Given the description of an element on the screen output the (x, y) to click on. 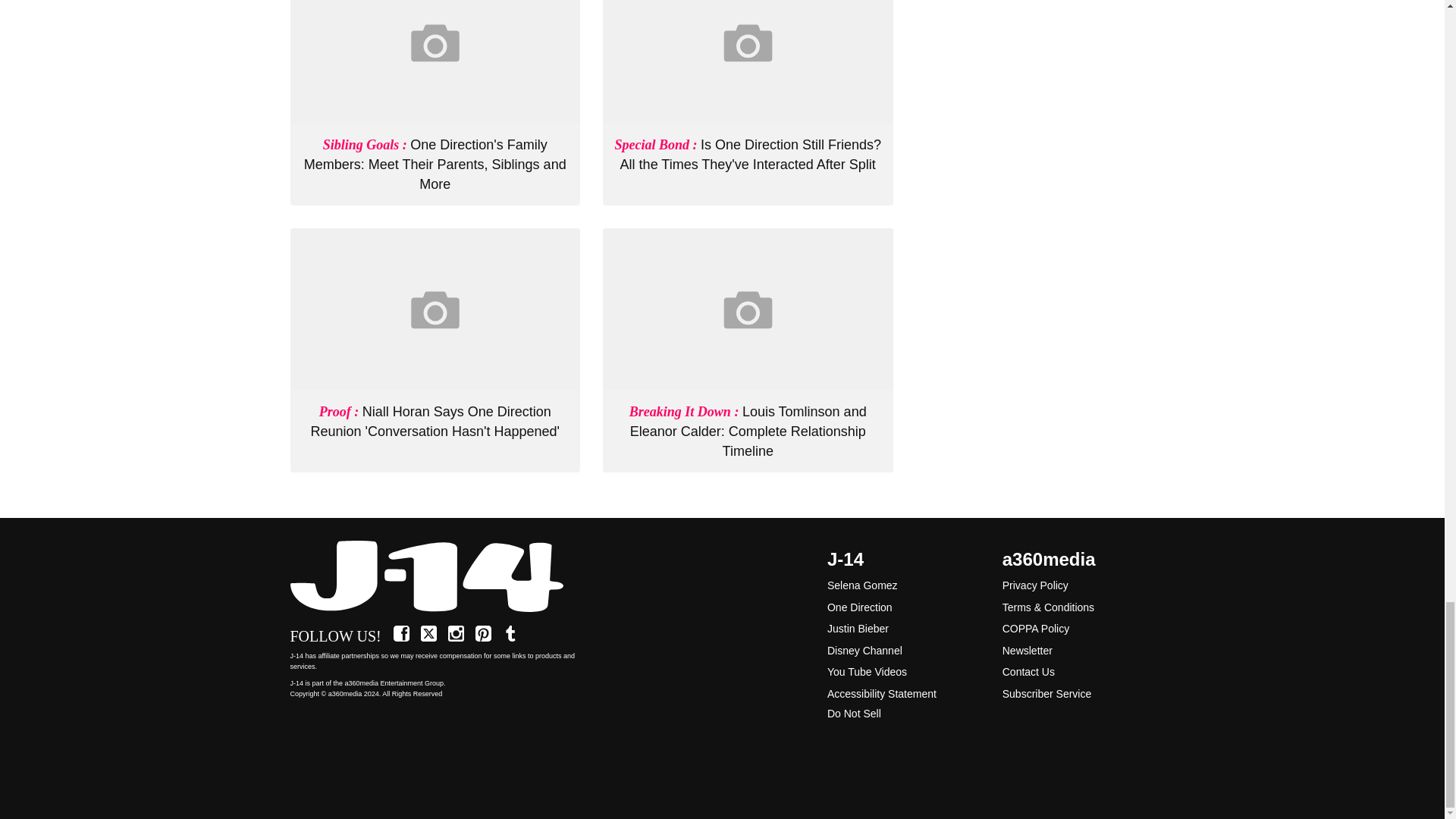
Home (434, 577)
